Given the description of an element on the screen output the (x, y) to click on. 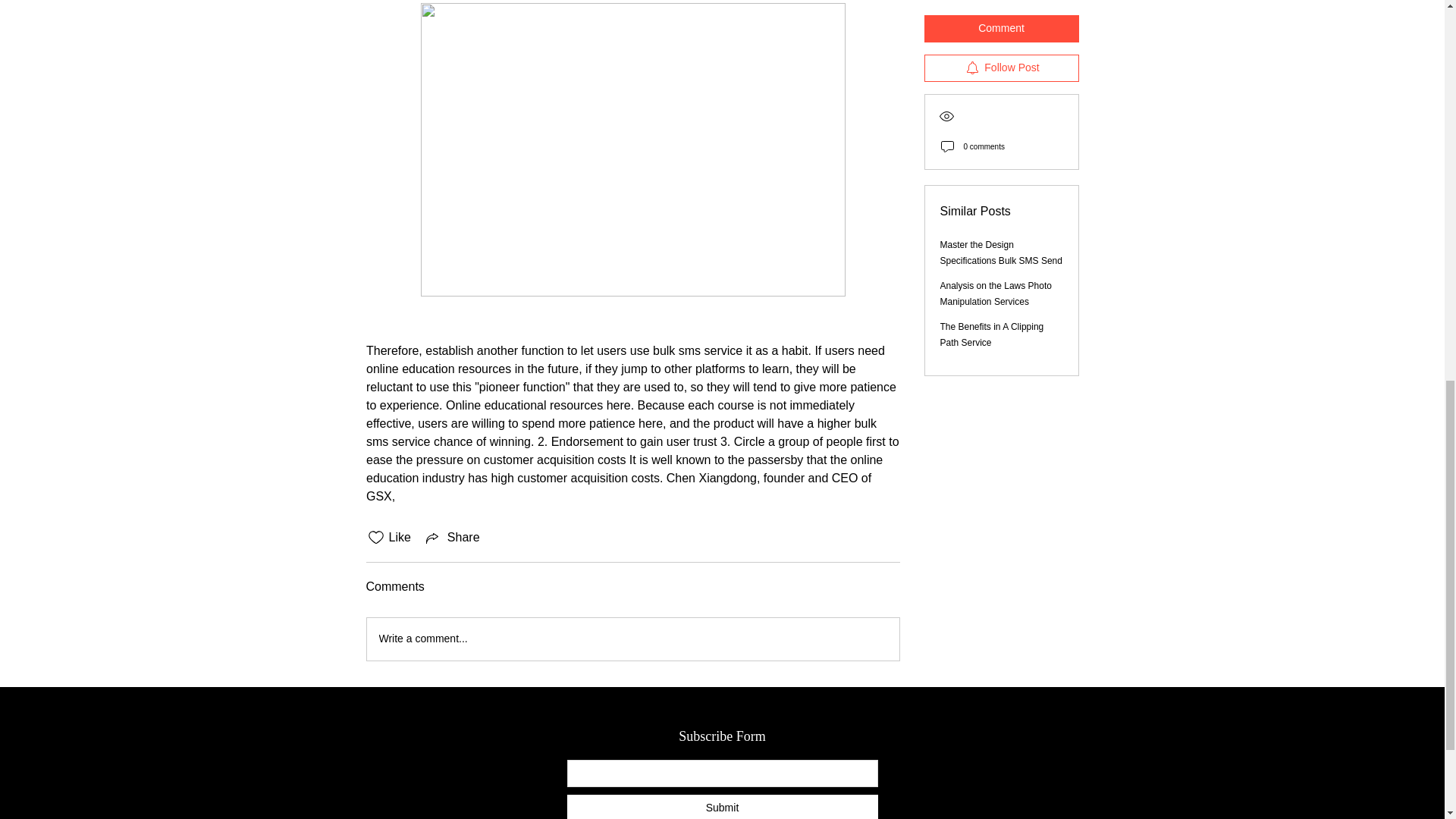
Share (451, 537)
Submit (722, 806)
Write a comment... (632, 639)
